Given the description of an element on the screen output the (x, y) to click on. 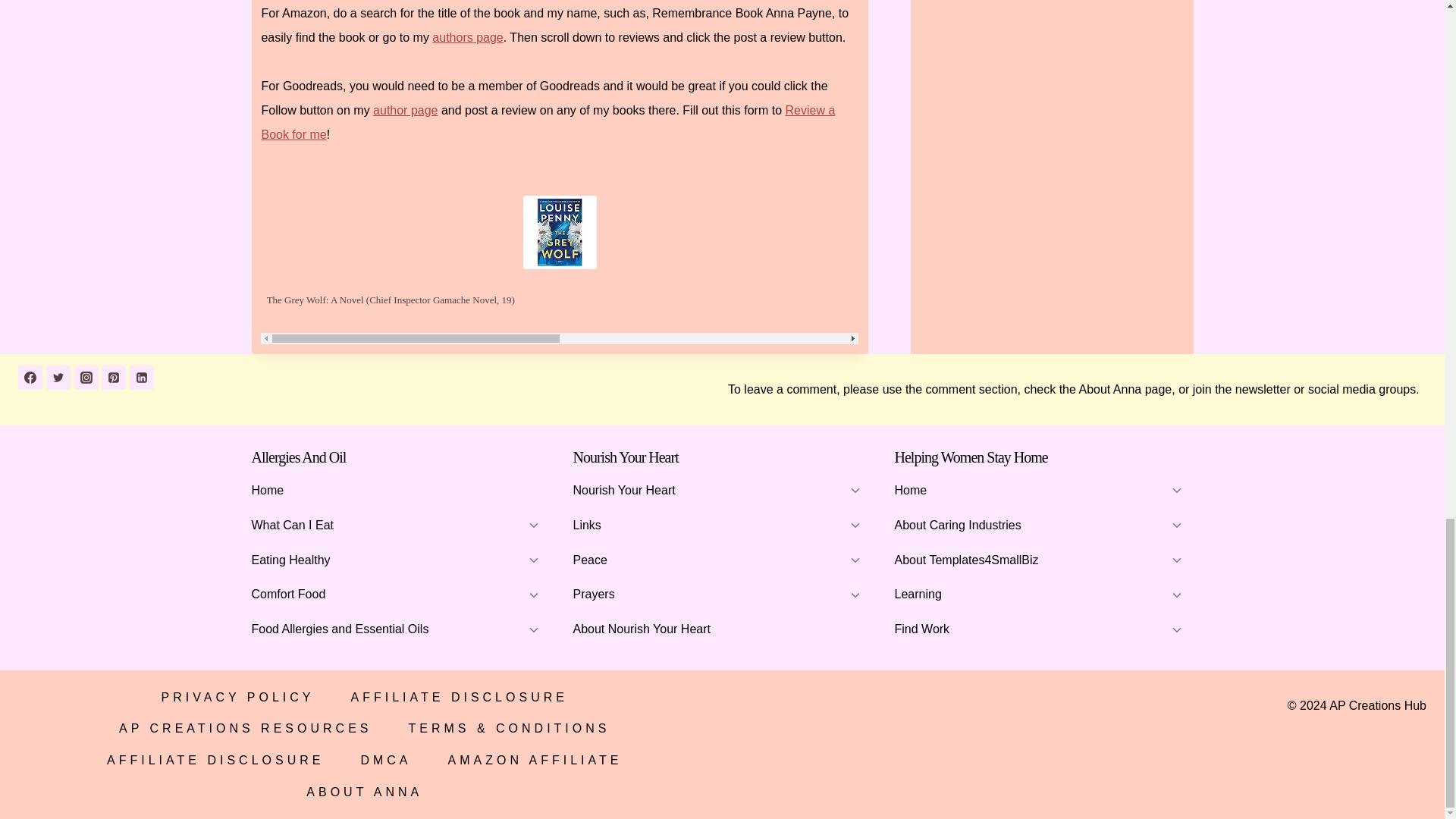
author page (405, 110)
authors page (467, 37)
Review a Book for me (547, 122)
